Given the description of an element on the screen output the (x, y) to click on. 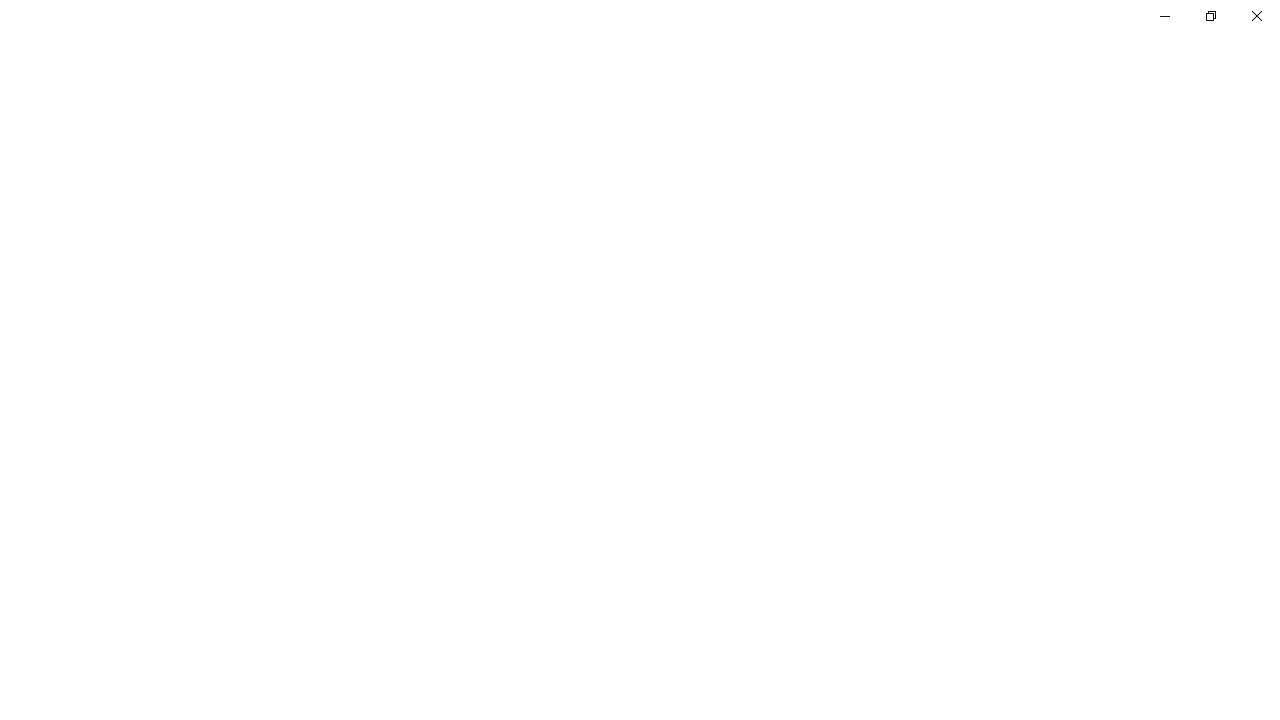
Minimize Settings (1164, 15)
Restore Settings (1210, 15)
Close Settings (1256, 15)
Vertical Small Decrease (1272, 103)
